Given the description of an element on the screen output the (x, y) to click on. 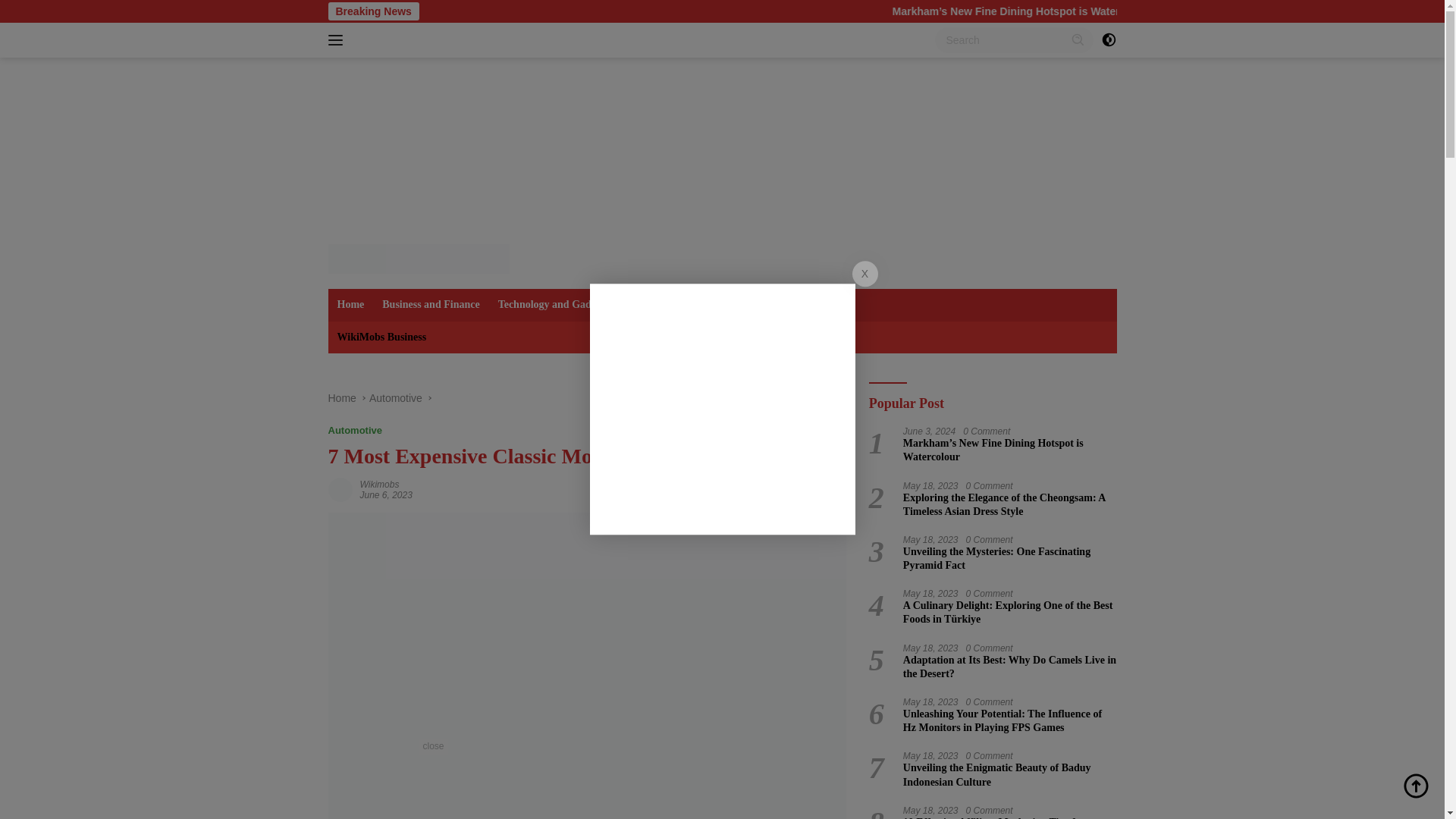
Automotive (354, 430)
WikiMob (417, 258)
Home (341, 398)
Technology and Gadgets (553, 305)
Permalink to: wikimobs (339, 489)
wikimobs (378, 484)
Science and Research (675, 305)
Other (761, 305)
Business and Finance (429, 305)
Wikimobs (378, 484)
